Given the description of an element on the screen output the (x, y) to click on. 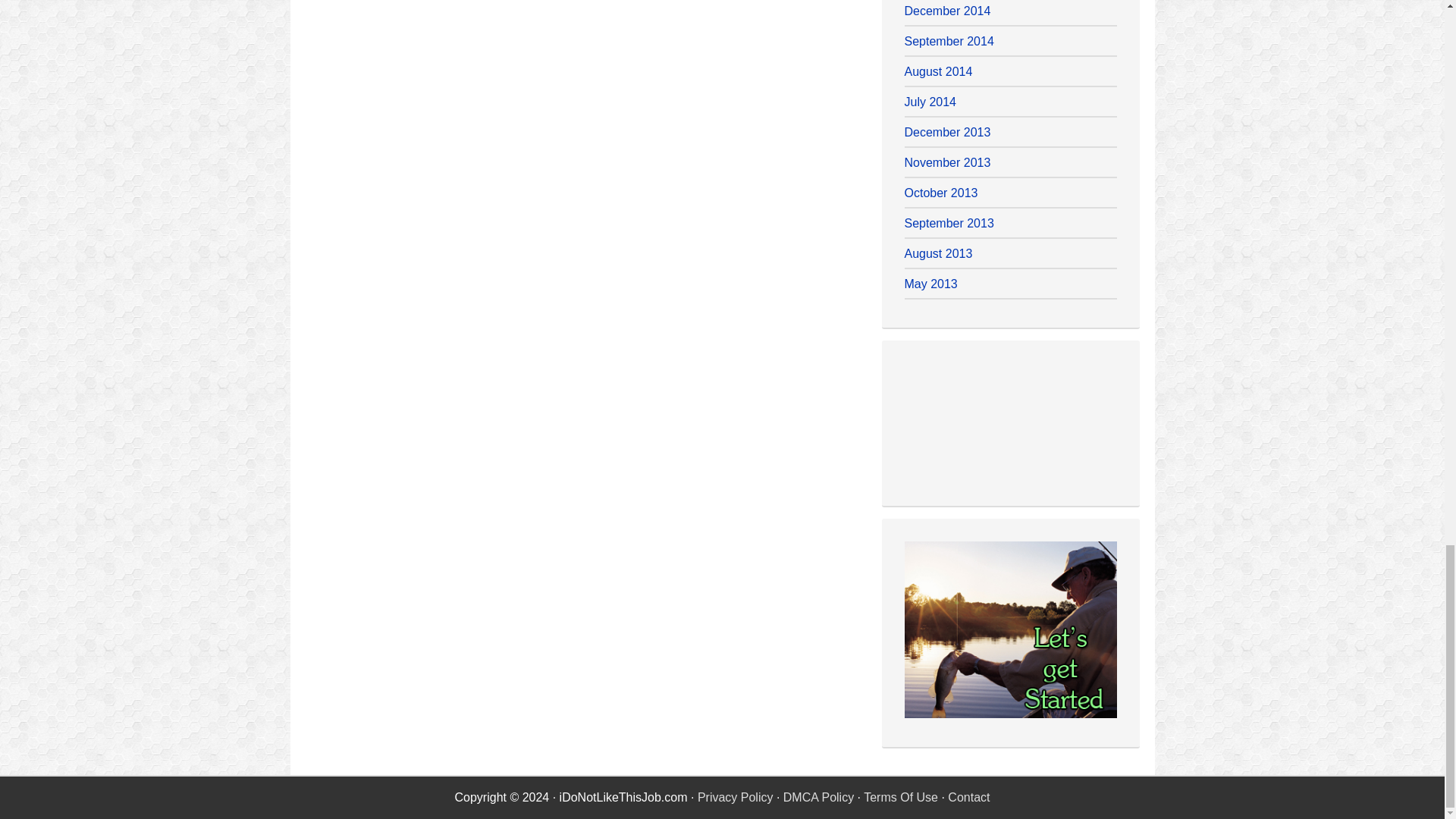
May 2013 (930, 283)
October 2013 (940, 192)
November 2013 (947, 162)
August 2014 (938, 71)
DMCA Policy (818, 797)
Contact (968, 797)
September 2014 (948, 41)
Terms Of Use (900, 797)
Privacy Policy (735, 797)
December 2014 (947, 10)
July 2014 (930, 101)
August 2013 (938, 253)
December 2013 (947, 132)
September 2013 (948, 223)
